Given the description of an element on the screen output the (x, y) to click on. 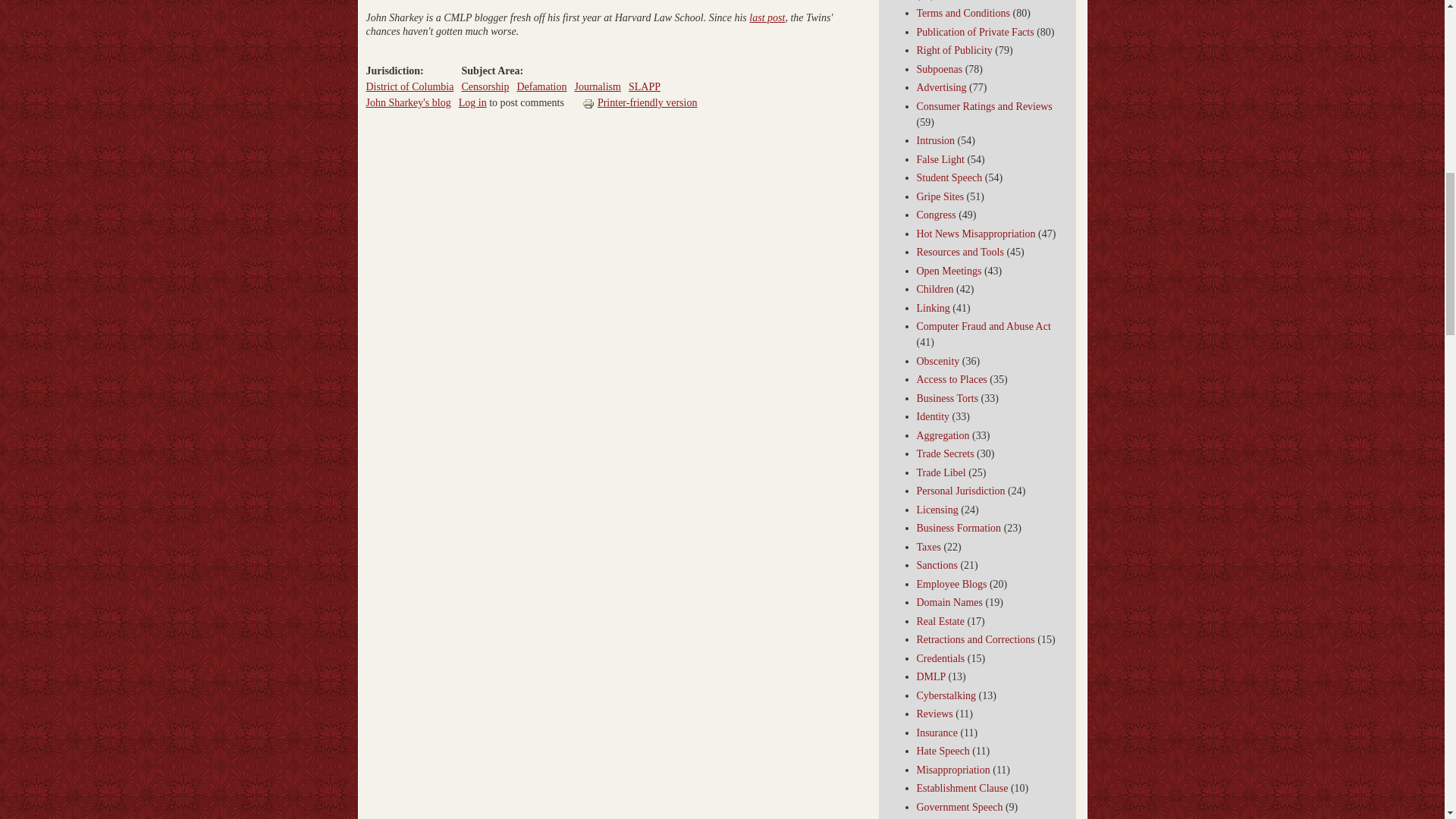
Censorship (484, 86)
John Sharkey's blog (407, 102)
SLAPP (644, 86)
Journalism (596, 86)
Read John Sharkey's latest blog entries. (407, 102)
last post (766, 17)
Printer-friendly version (639, 102)
Defamation (541, 86)
Printer-friendly version (589, 103)
Log in (472, 102)
Display a printer-friendly version of this page. (639, 102)
District of Columbia (408, 86)
